Given the description of an element on the screen output the (x, y) to click on. 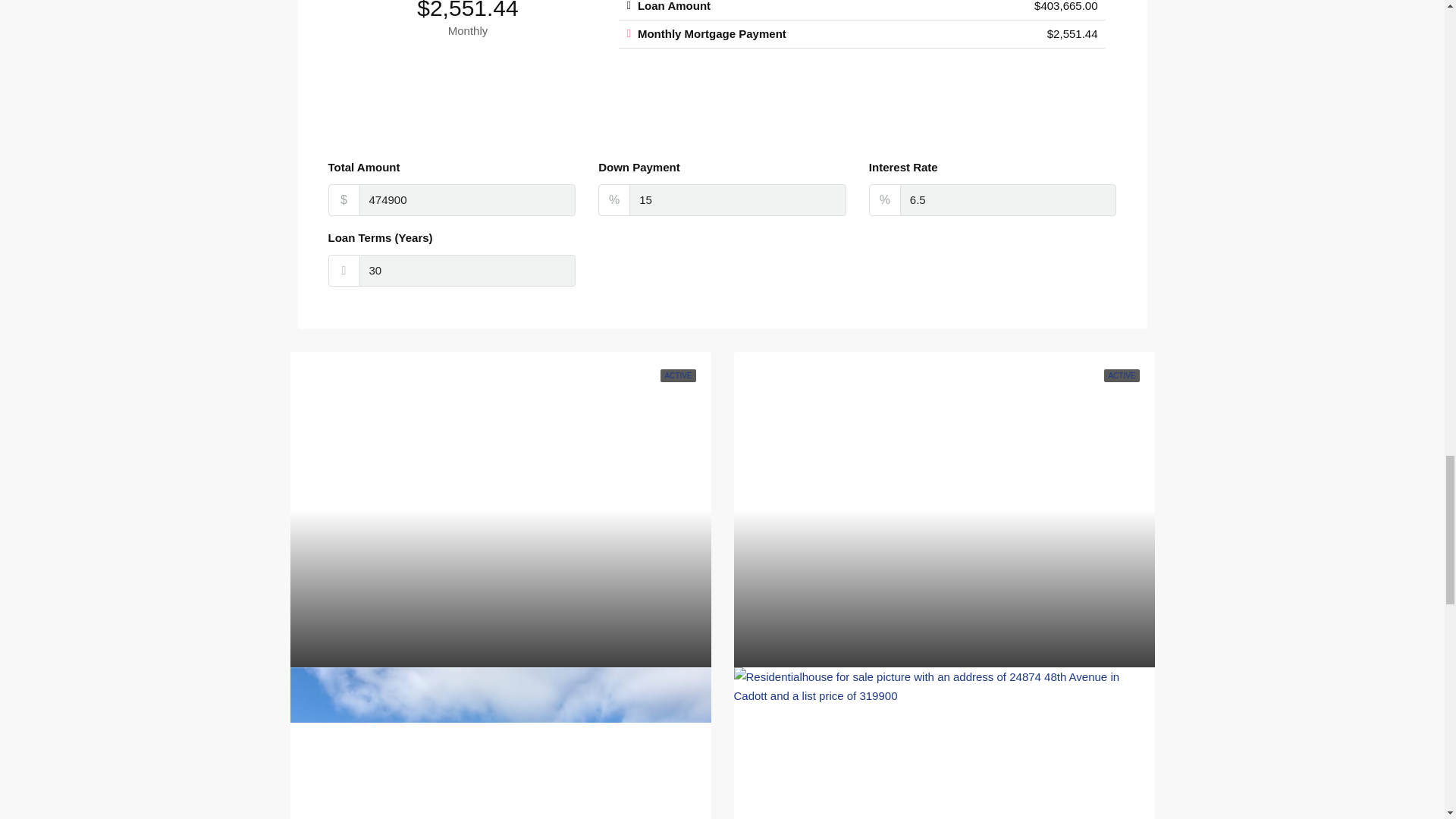
474900 (467, 200)
6.5 (1007, 200)
30 (467, 270)
15 (736, 200)
